Given the description of an element on the screen output the (x, y) to click on. 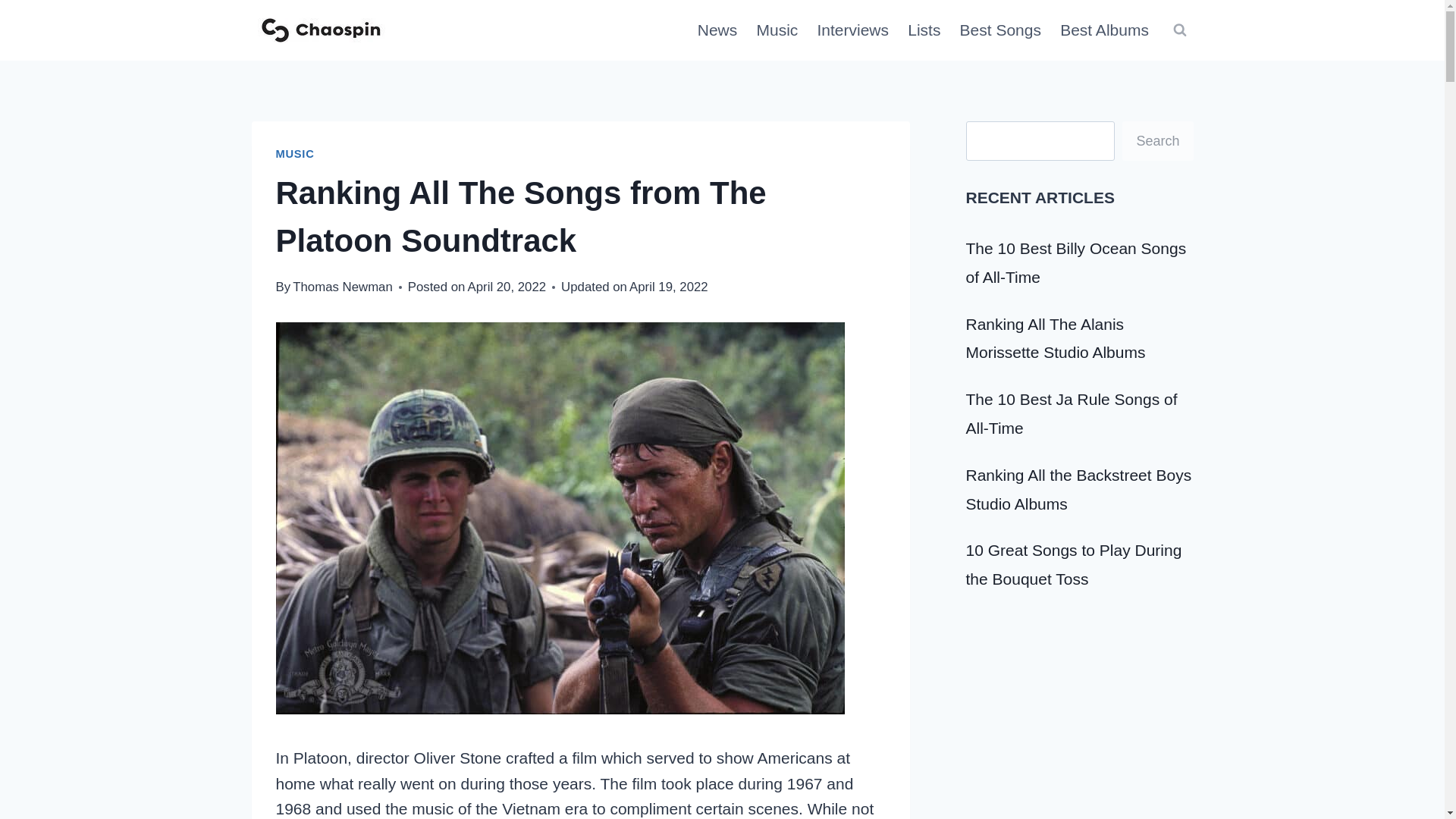
Music (777, 30)
Best Albums (1104, 30)
Lists (924, 30)
Interviews (853, 30)
News (716, 30)
MUSIC (295, 153)
Best Songs (1000, 30)
Thomas Newman (342, 287)
